Given the description of an element on the screen output the (x, y) to click on. 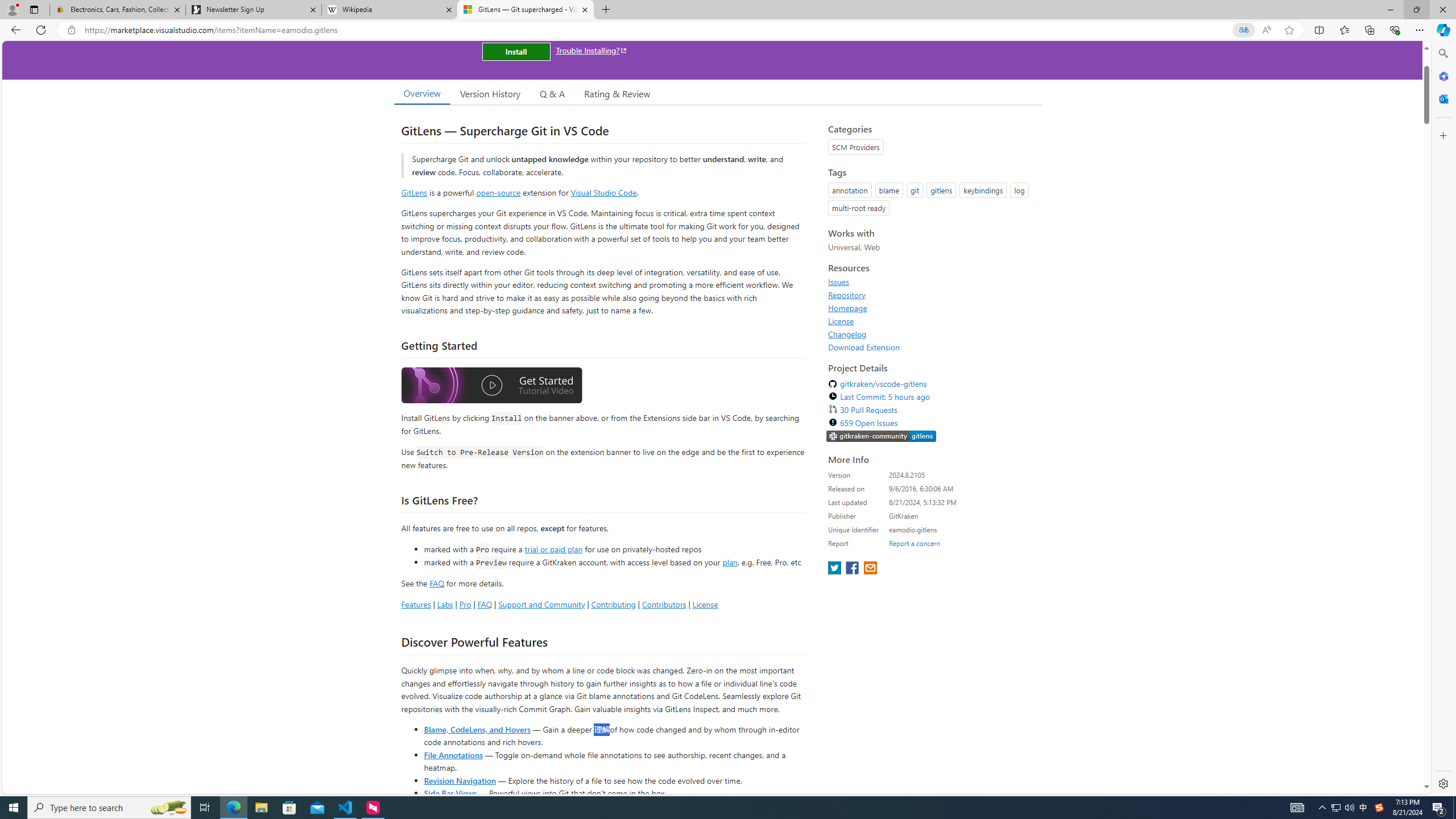
Revision Navigation (459, 780)
Translated (1243, 29)
Blame, CodeLens, and Hovers (476, 728)
Homepage (931, 307)
Side bar (1443, 418)
Overview (421, 92)
File Annotations (453, 754)
Back (13, 29)
New Tab (606, 9)
Favorites (1344, 29)
Download Extension (863, 346)
Electronics, Cars, Fashion, Collectibles & More | eBay (117, 9)
License (840, 320)
